Given the description of an element on the screen output the (x, y) to click on. 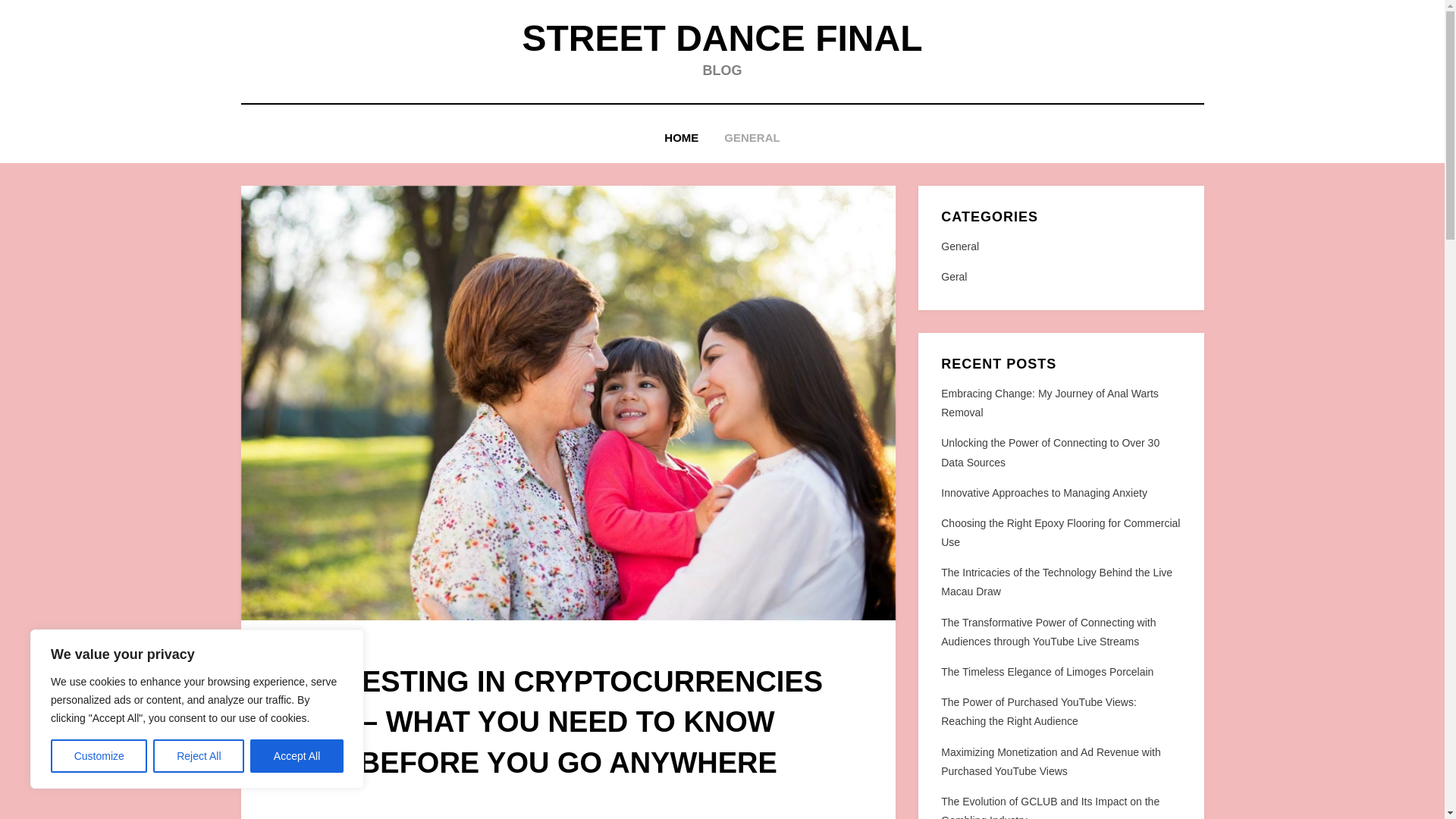
Accept All (296, 756)
Unlocking the Power of Connecting to Over 30 Data Sources (1049, 451)
The Timeless Elegance of Limoges Porcelain (1046, 671)
HOME (680, 137)
Customize (98, 756)
Geral (1060, 276)
Choosing the Right Epoxy Flooring for Commercial Use (1059, 531)
Street Dance Final (721, 38)
Embracing Change: My Journey of Anal Warts Removal (1049, 402)
